Given the description of an element on the screen output the (x, y) to click on. 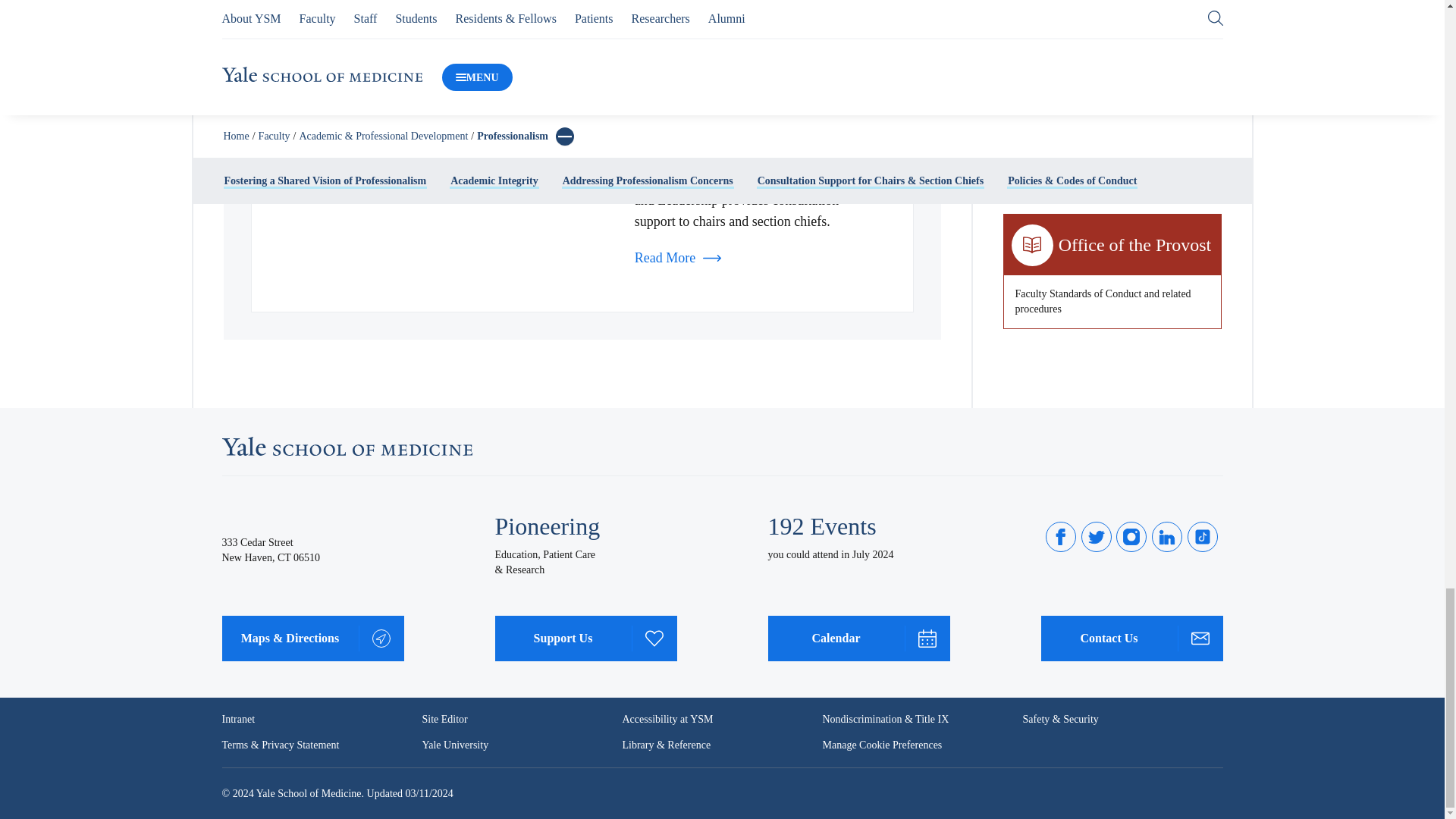
Yale School of Medicine (346, 445)
